Given the description of an element on the screen output the (x, y) to click on. 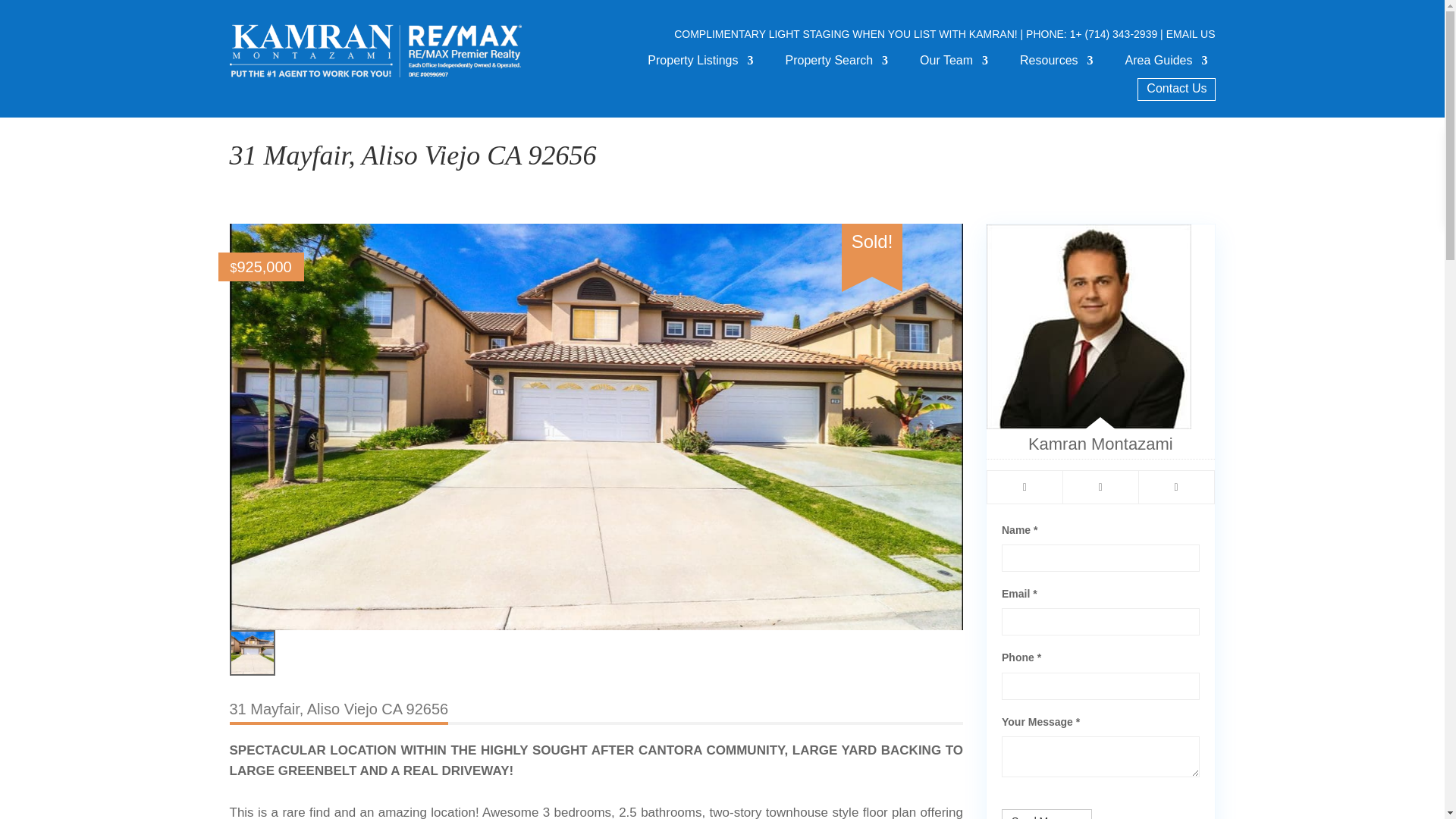
Resources (1056, 63)
Area Guides (1166, 63)
EMAIL US (1190, 33)
Our Team (954, 63)
Property Search (837, 63)
Property Listings (699, 63)
